Given the description of an element on the screen output the (x, y) to click on. 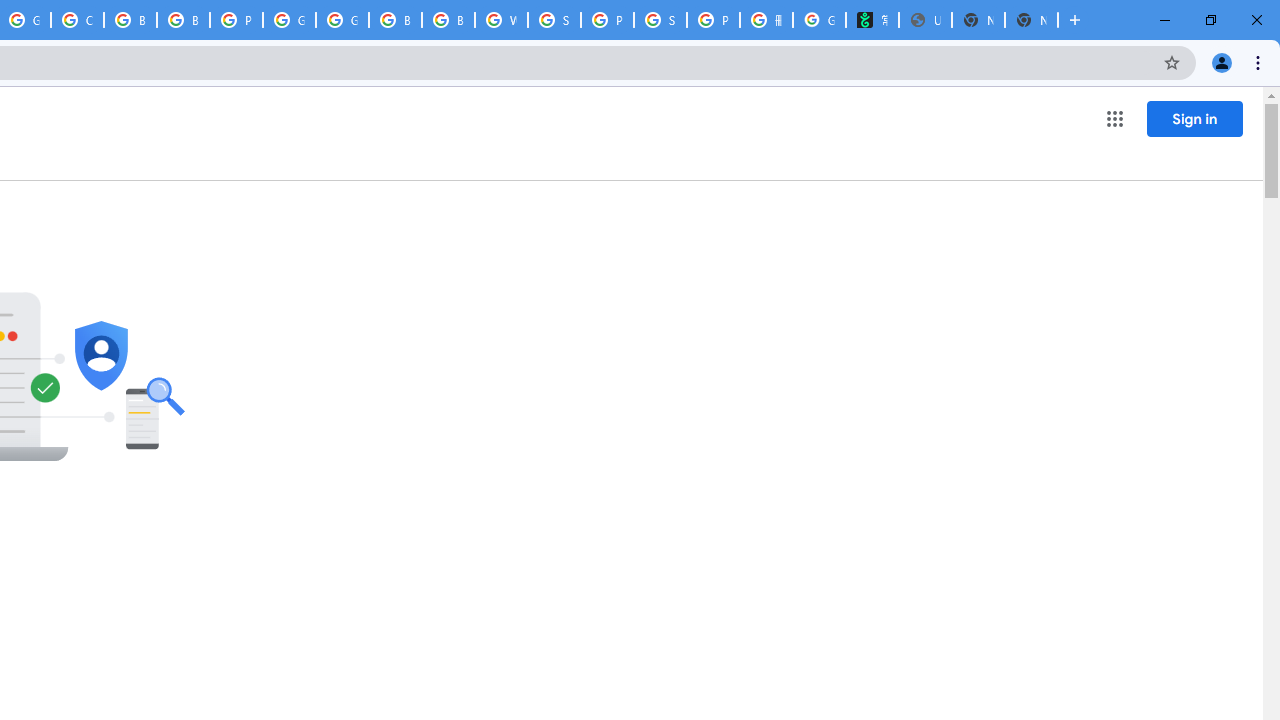
Sign in - Google Accounts (554, 20)
Untitled (925, 20)
